Given the description of an element on the screen output the (x, y) to click on. 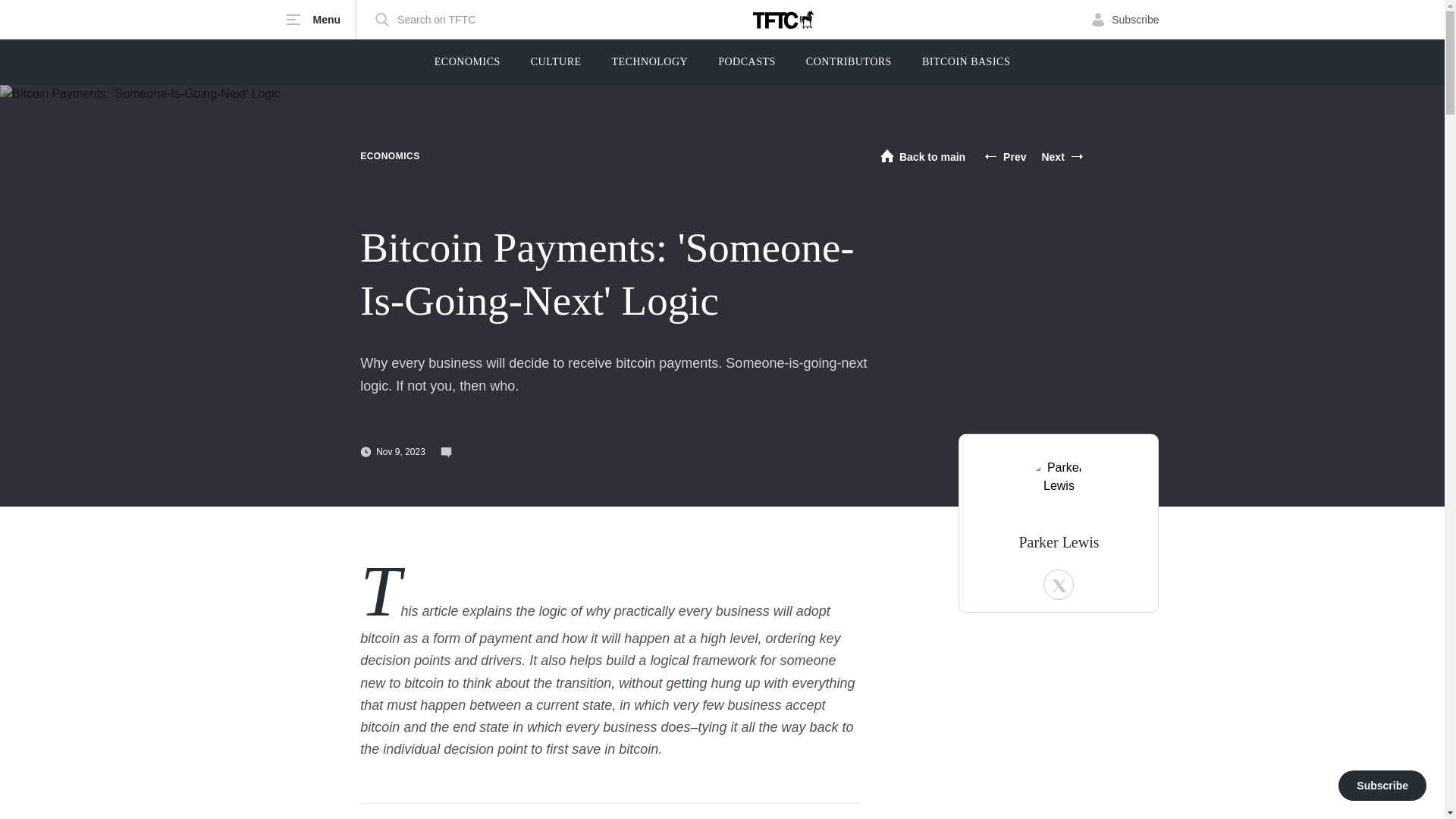
ECONOMICS (389, 155)
Subscribe (1124, 19)
Parker Lewis (1058, 541)
PODCASTS (746, 62)
CULTURE (555, 62)
Next (1062, 156)
Parker Lewis (1058, 488)
TECHNOLOGY (649, 62)
BITCOIN BASICS (965, 62)
Menu (320, 19)
